Given the description of an element on the screen output the (x, y) to click on. 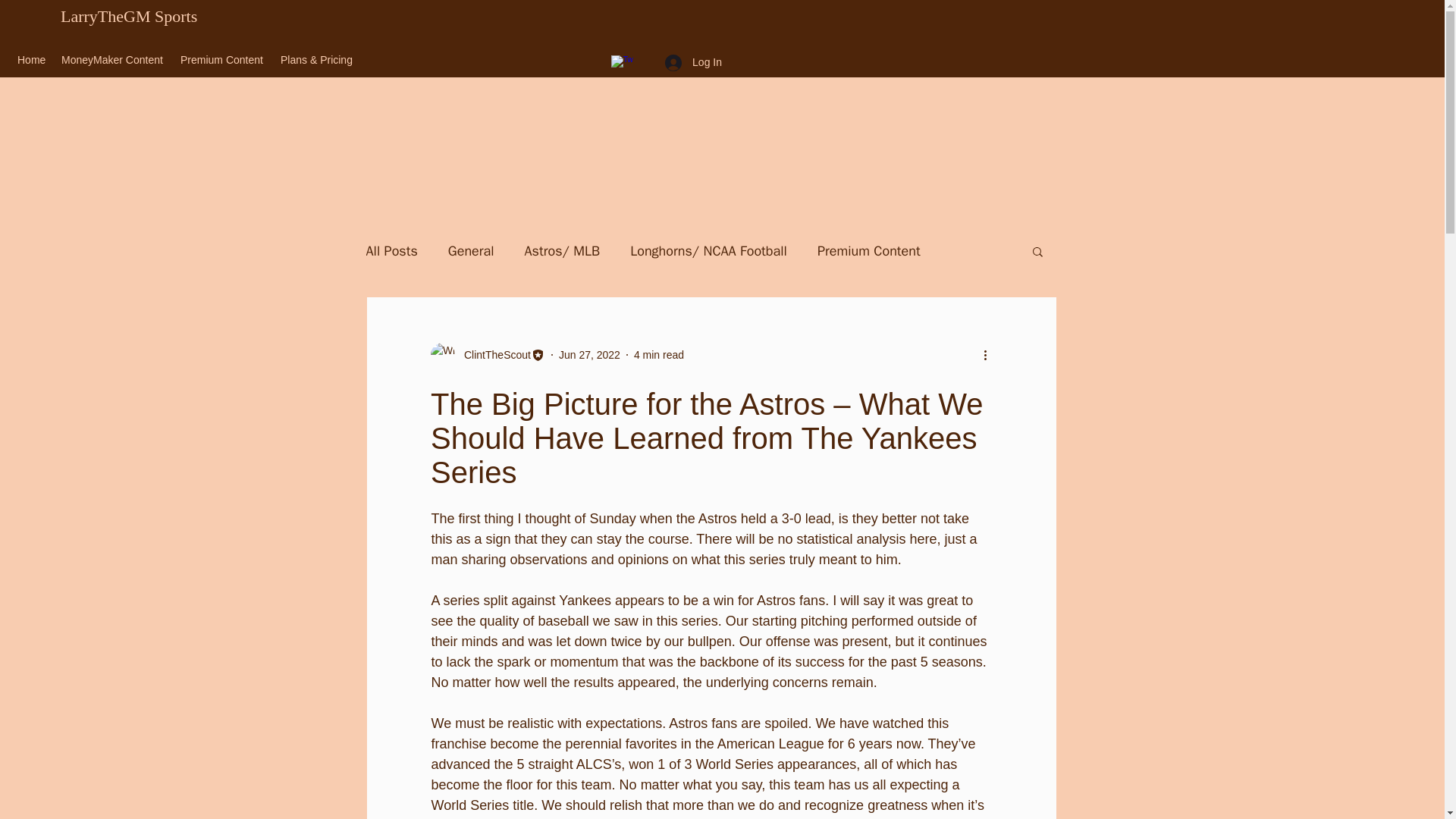
Premium Content (223, 59)
Jun 27, 2022 (589, 354)
ClintTheScout (492, 355)
Log In (692, 62)
4 min read (658, 354)
MoneyMaker Content (113, 59)
Premium Content (868, 250)
General (471, 250)
ClintTheScout (487, 354)
All Posts (390, 250)
